Given the description of an element on the screen output the (x, y) to click on. 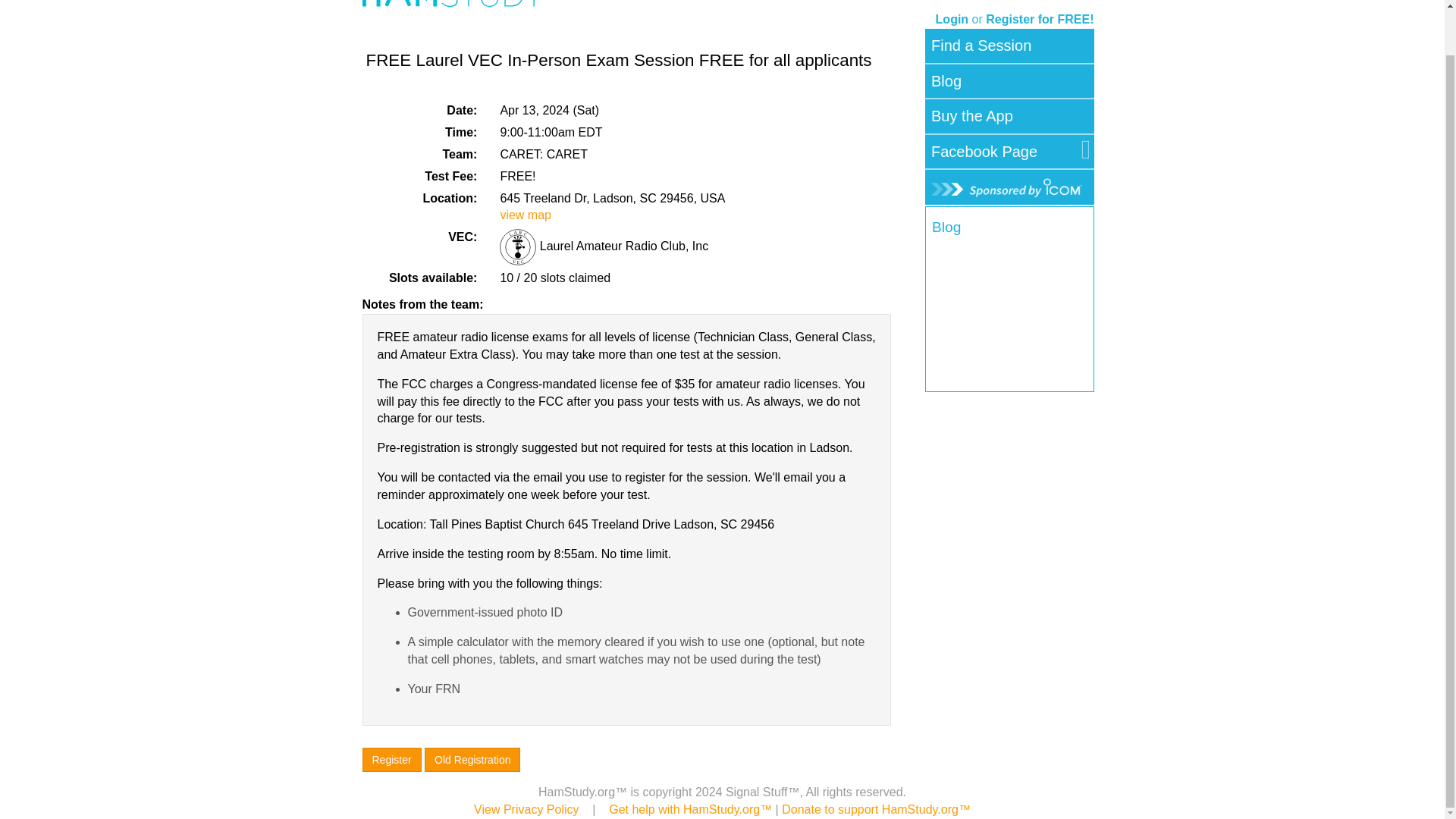
view map (525, 214)
Register (392, 760)
Find a Session (980, 45)
Blog (946, 81)
Login (952, 19)
Register for FREE! (1039, 19)
Facebook Page (983, 151)
View Privacy Policy (526, 809)
Buy the App (971, 116)
Old Registration (472, 760)
